Given the description of an element on the screen output the (x, y) to click on. 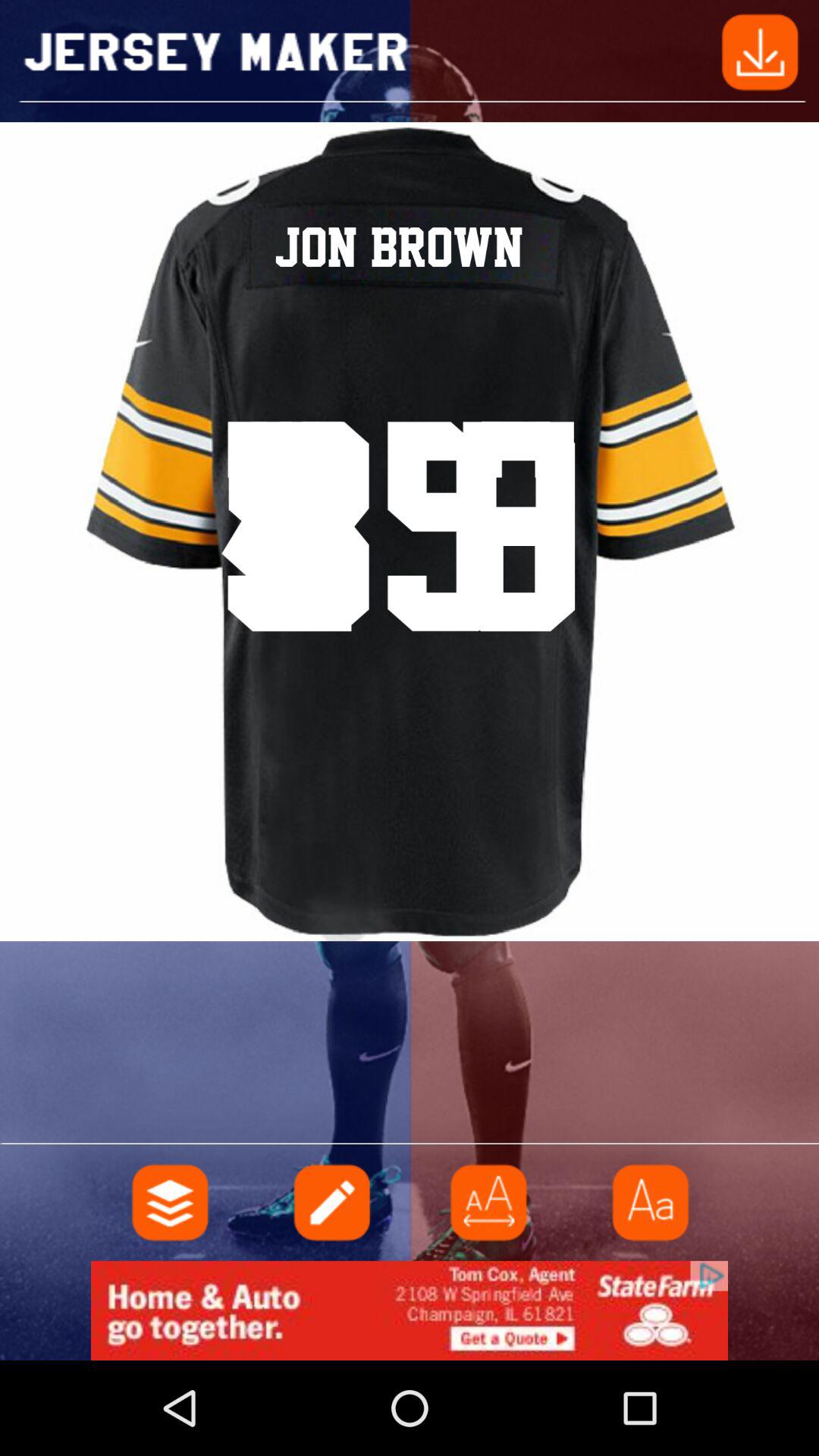
options (170, 1202)
